Given the description of an element on the screen output the (x, y) to click on. 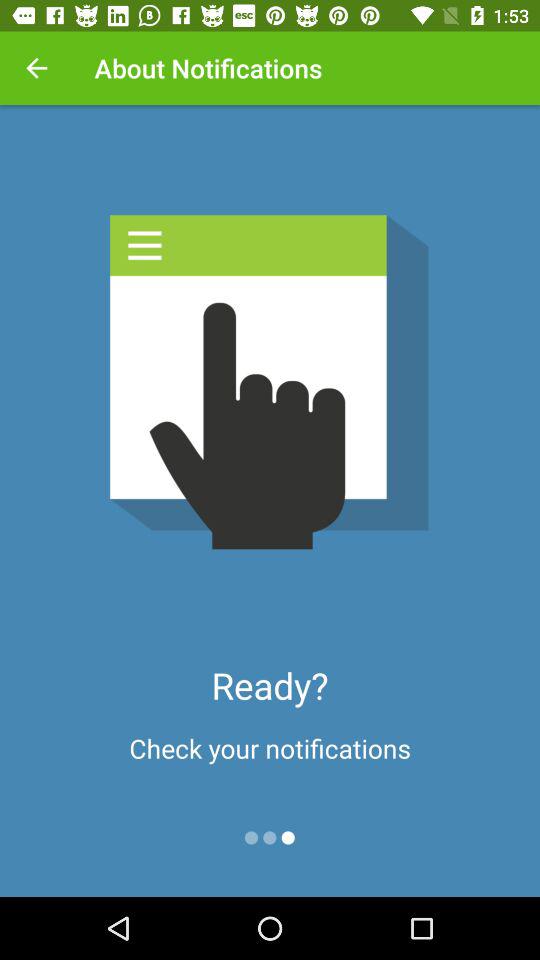
click item next to the about notifications (36, 68)
